Given the description of an element on the screen output the (x, y) to click on. 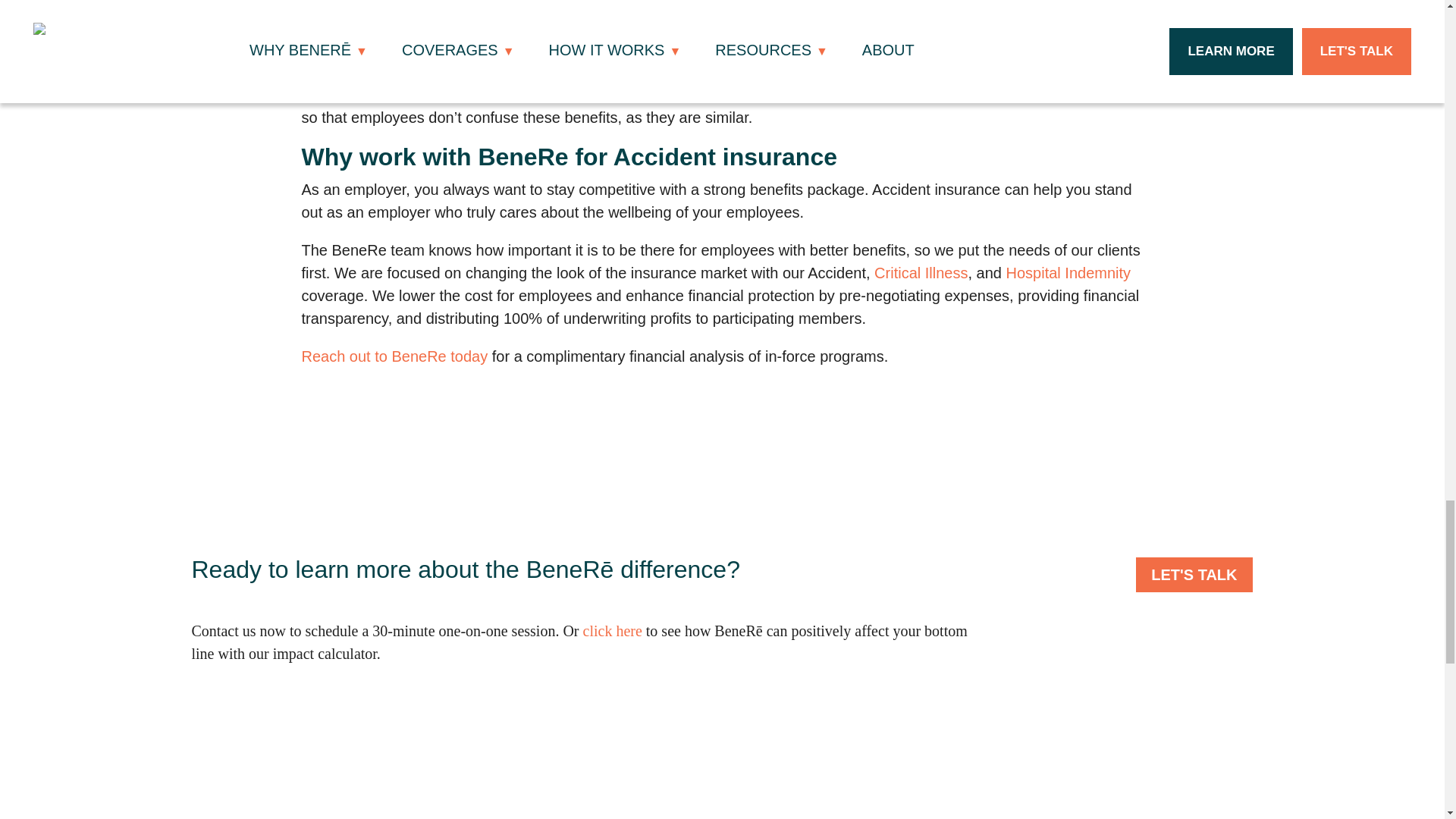
click here (612, 630)
Hospital Indemnity (1068, 272)
Critical Illness (921, 272)
Reach out to BeneRe today (394, 356)
LET'S TALK (1193, 574)
